Given the description of an element on the screen output the (x, y) to click on. 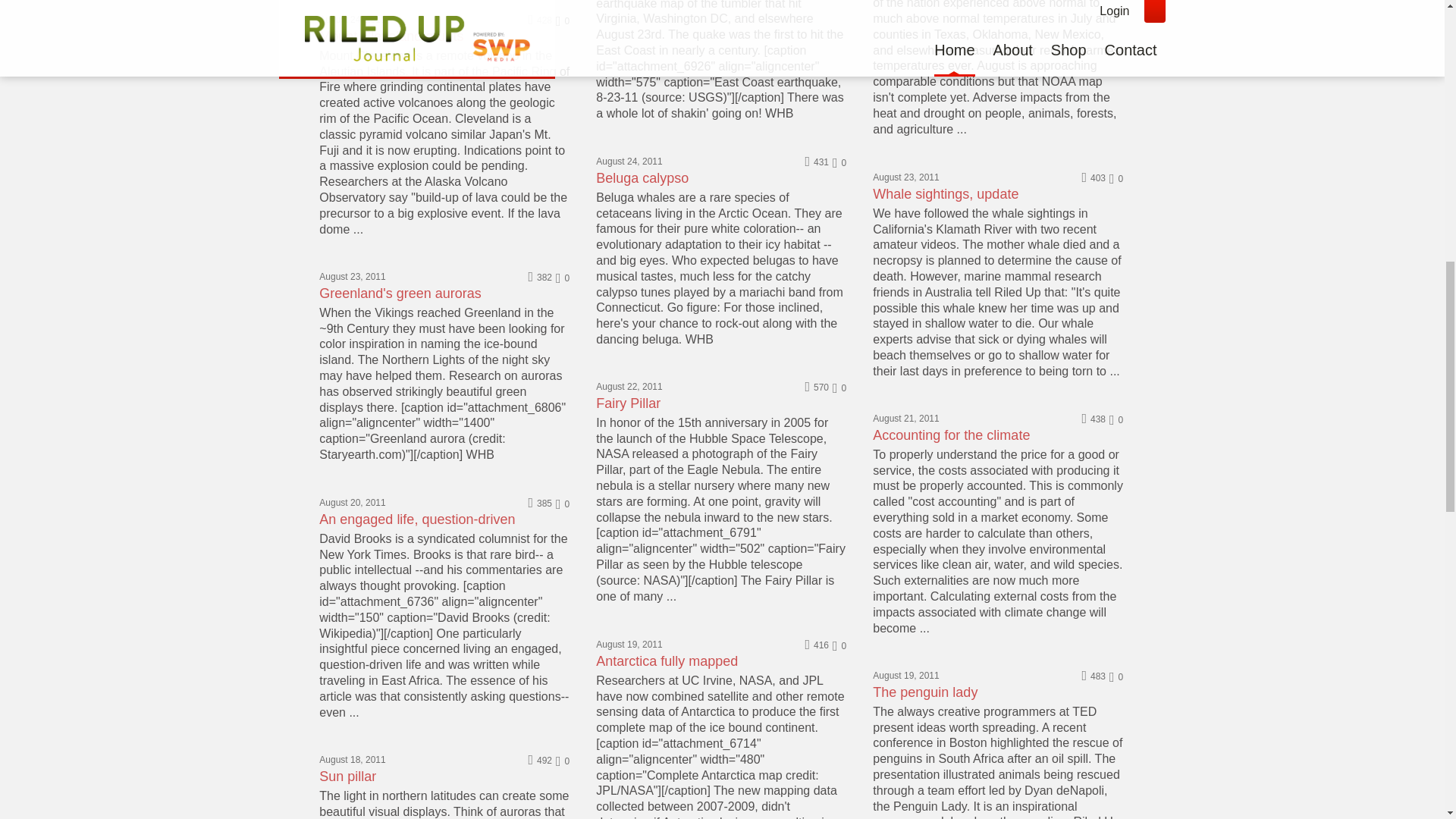
Beluga calypso (641, 177)
The penguin lady (924, 692)
Accounting for the climate (950, 435)
Sun pillar (346, 776)
Mount Cleveland erupts (390, 36)
Antarctica fully mapped (666, 661)
Whale sightings, update (944, 193)
Greenland's green auroras (399, 293)
An engaged life, question-driven (416, 519)
Fairy Pillar (628, 403)
